Given the description of an element on the screen output the (x, y) to click on. 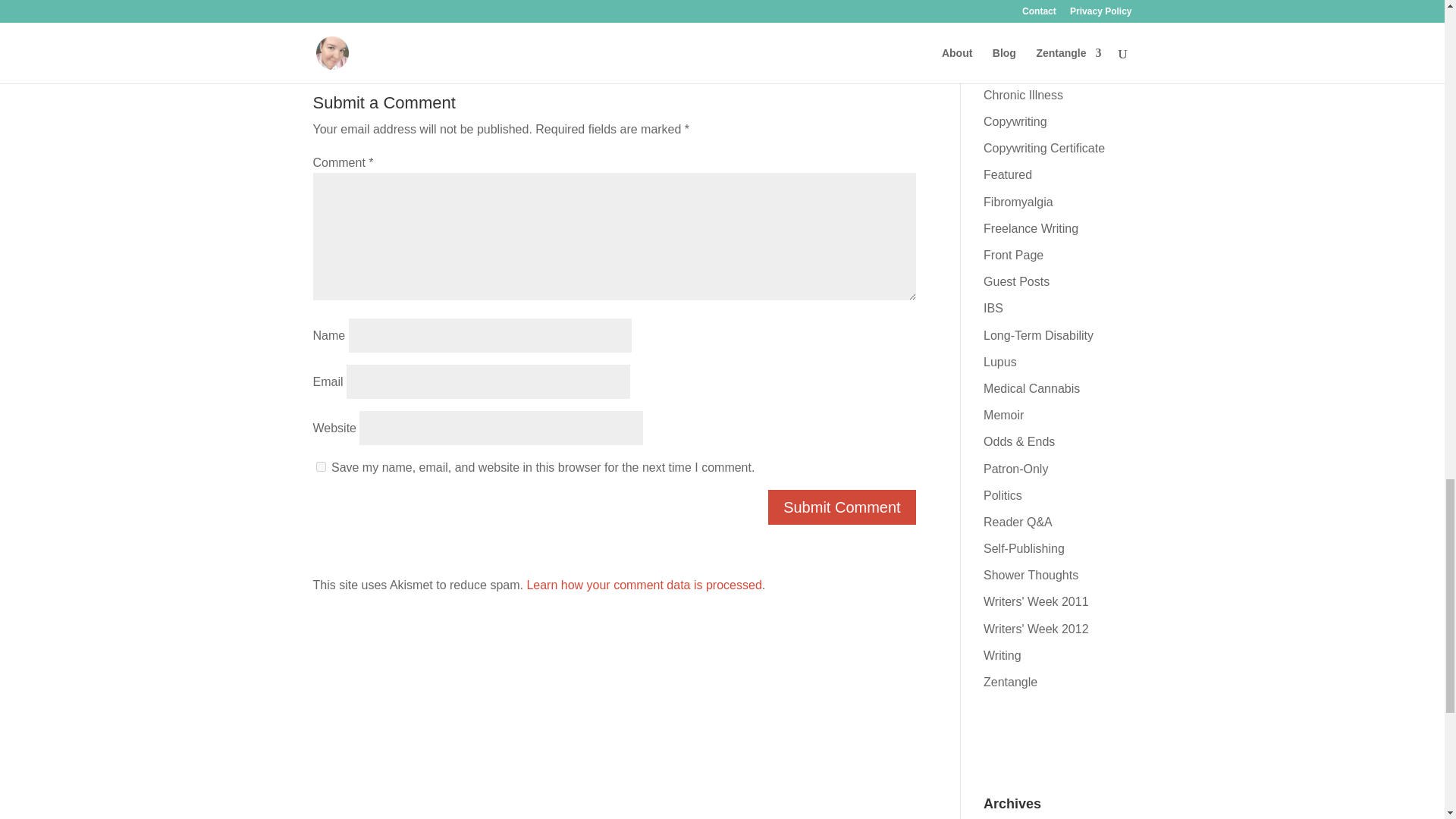
Submit Comment (841, 506)
Breaking Personal News (1033, 30)
yes (319, 466)
Learn how your comment data is processed (643, 584)
Submit Comment (841, 506)
